Given the description of an element on the screen output the (x, y) to click on. 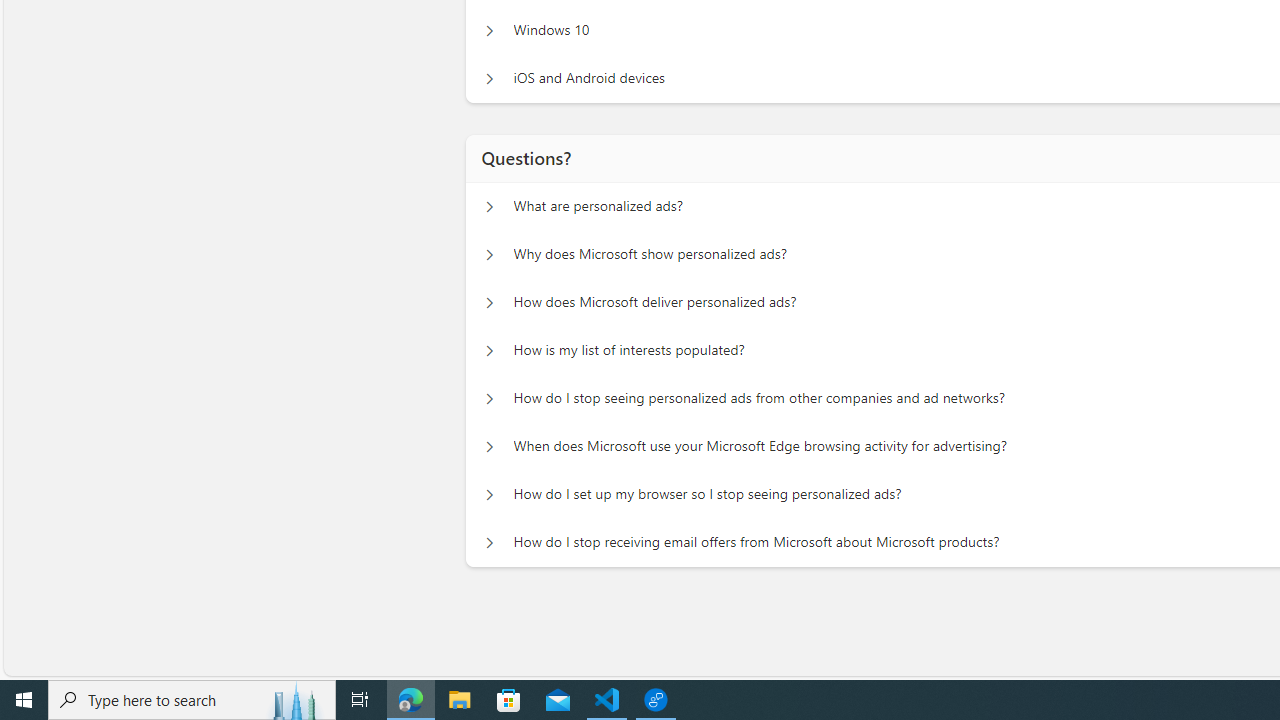
Questions? Why does Microsoft show personalized ads? (489, 255)
Manage personalized ads on your device Windows 10 (489, 30)
Questions? How is my list of interests populated? (489, 350)
Questions? What are personalized ads? (489, 206)
Questions? How does Microsoft deliver personalized ads? (489, 302)
